Given the description of an element on the screen output the (x, y) to click on. 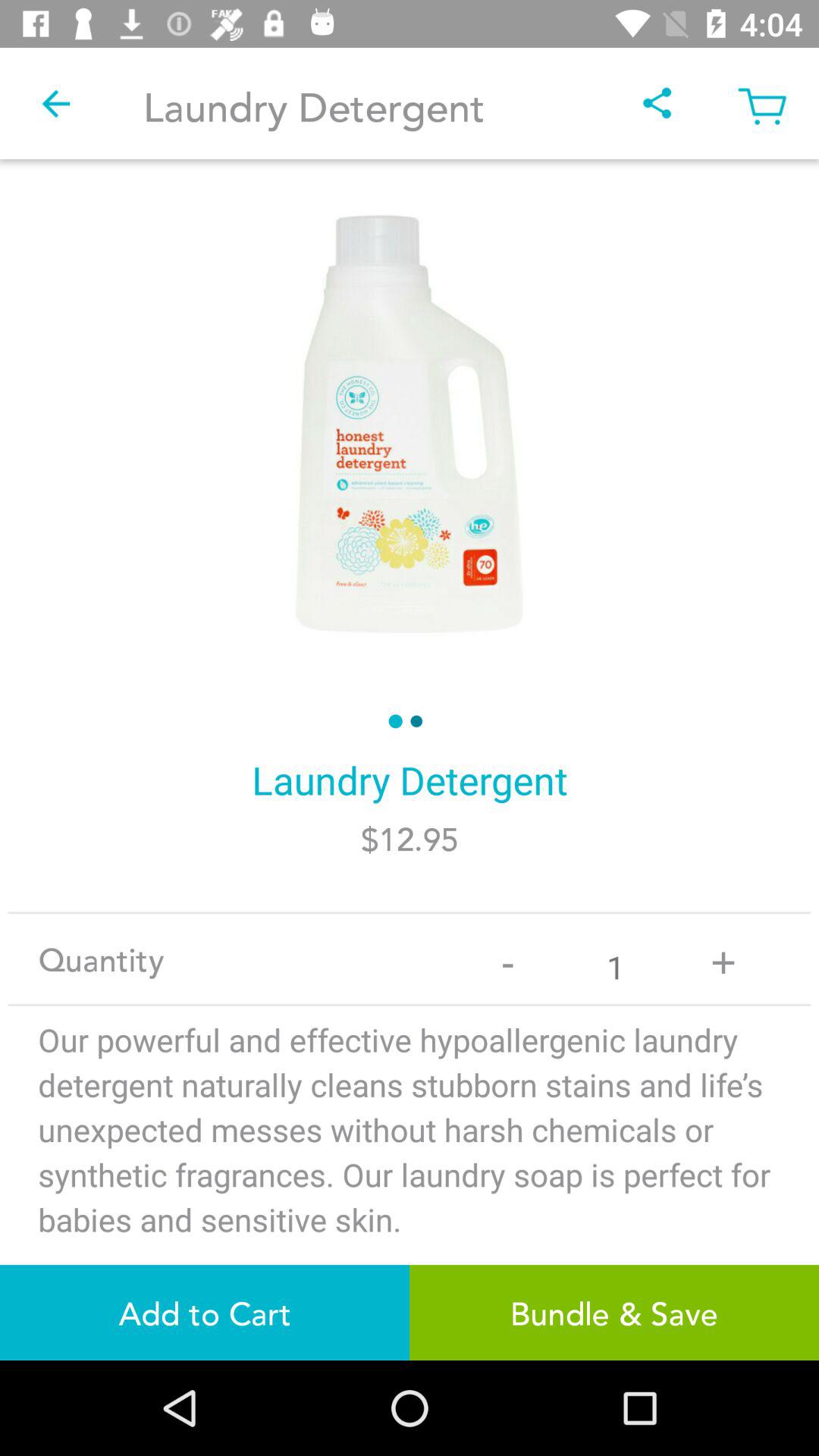
launch the add to cart icon (204, 1312)
